Given the description of an element on the screen output the (x, y) to click on. 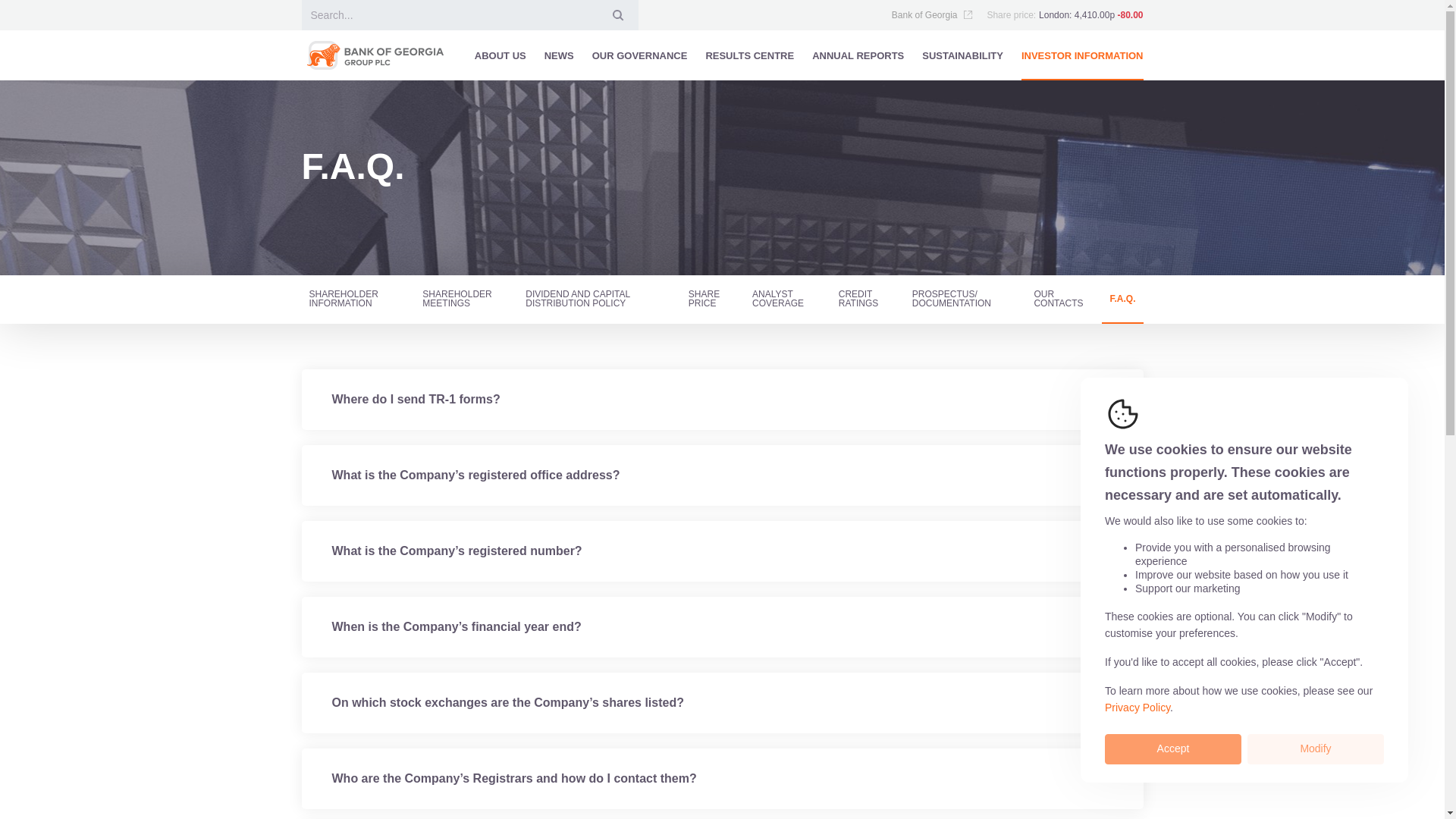
RESULTS CENTRE (748, 55)
SHAREHOLDER INFORMATION (352, 298)
SUSTAINABILITY (962, 55)
ABOUT US (499, 55)
ANNUAL REPORTS (858, 55)
OUR GOVERNANCE (639, 55)
London: 4,410.00p -80.00 (1090, 14)
INVESTOR INFORMATION (1082, 55)
Bank of Georgia (932, 14)
